Given the description of an element on the screen output the (x, y) to click on. 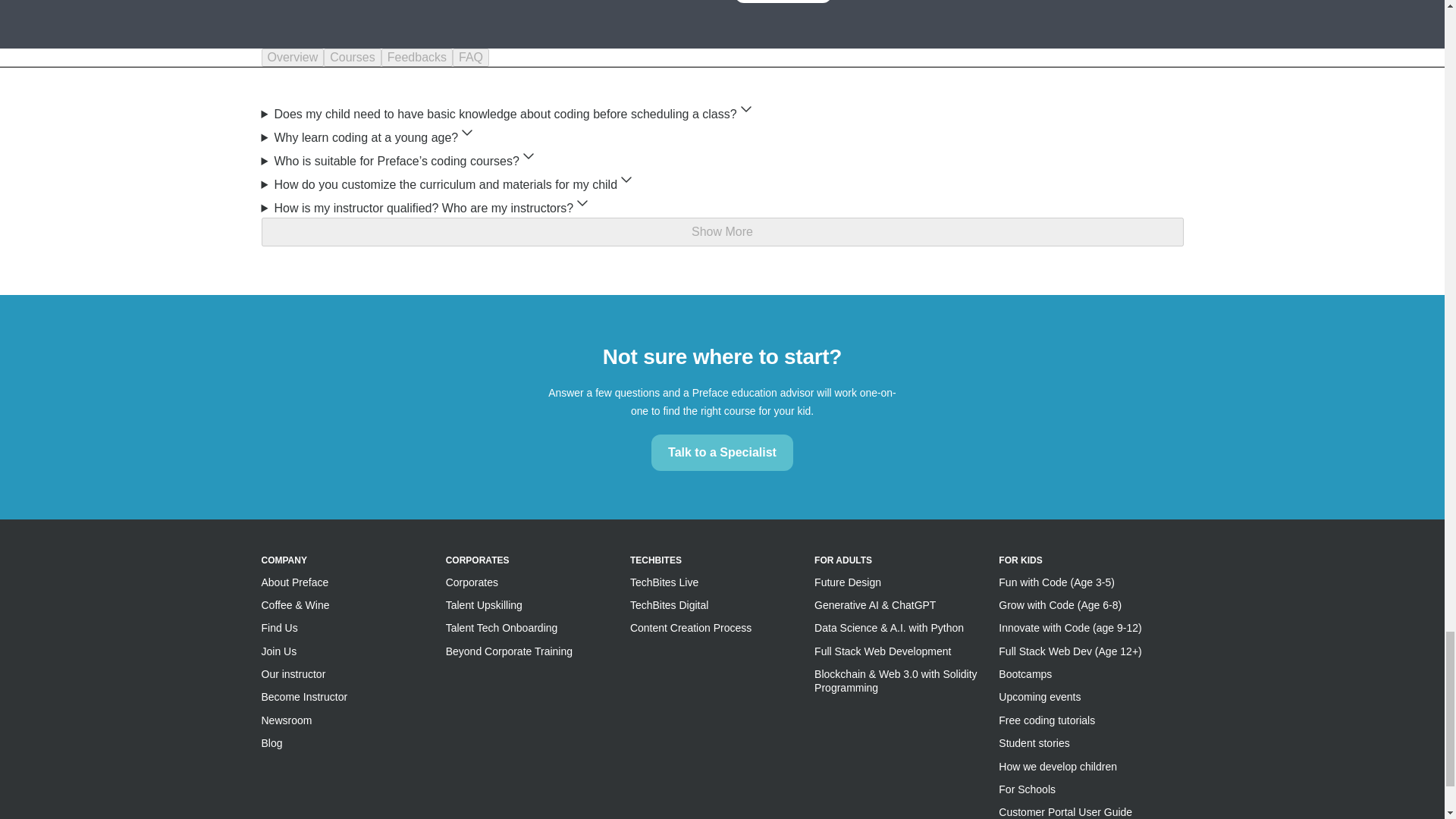
Blog (271, 743)
Find Us (278, 627)
Talk to a Specialist (721, 452)
Our instructor (292, 674)
Newsroom (285, 720)
Corporates (471, 582)
Contact Us (782, 1)
Talk to a Specialist (721, 451)
Join Us (278, 651)
Become Instructor (303, 696)
Talent Tech Onboarding (501, 627)
Talent Upskilling (483, 604)
Show More (721, 231)
About Preface (294, 582)
